Given the description of an element on the screen output the (x, y) to click on. 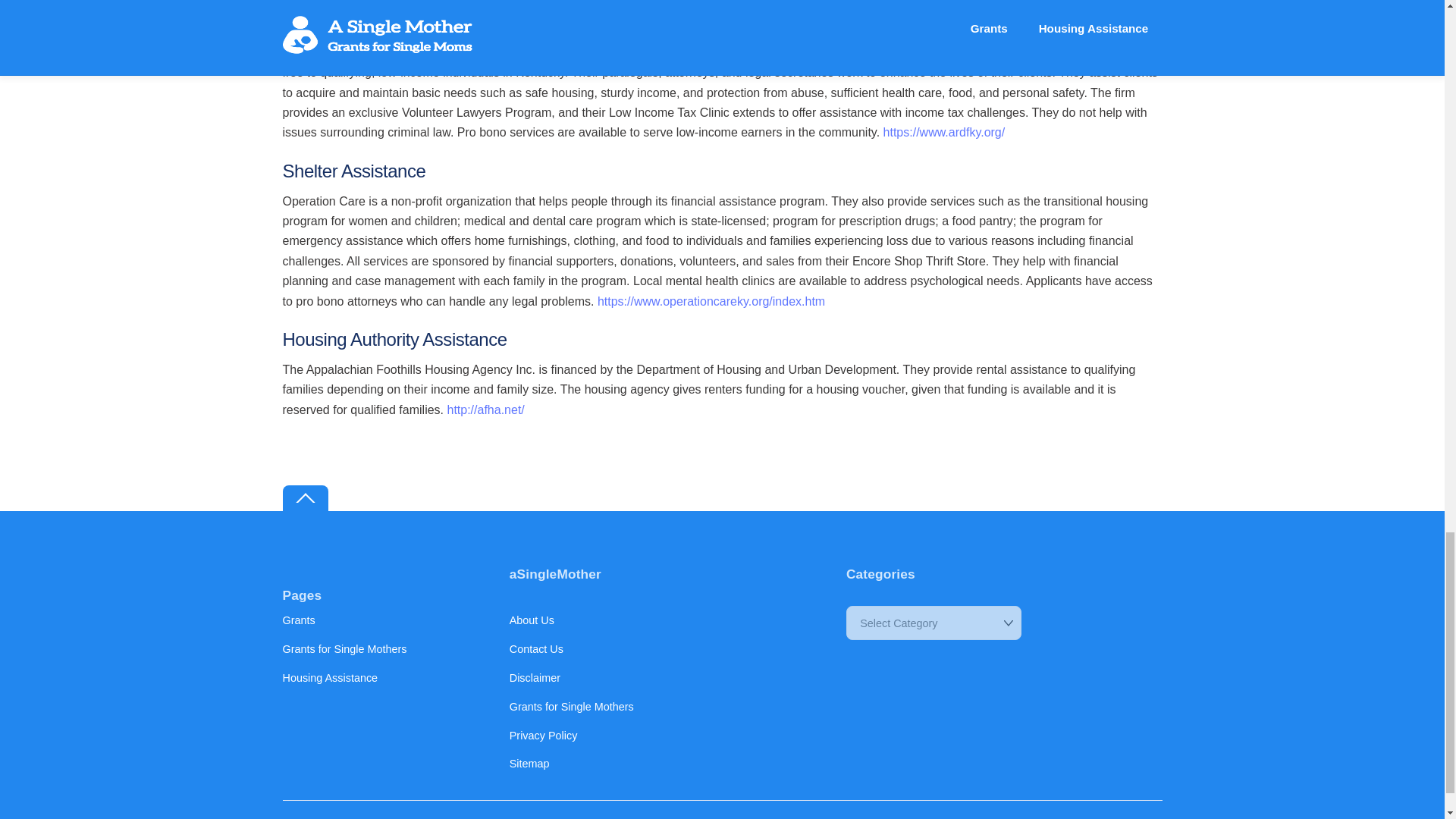
Back To Top (304, 498)
Housing Assistance (329, 677)
Grants (298, 620)
About Us (531, 620)
Grants for Single Mothers (344, 648)
Disclaimer (534, 677)
Privacy Policy (543, 735)
Contact Us (536, 648)
Sitemap (529, 763)
Grants for Single Mothers (571, 706)
